Given the description of an element on the screen output the (x, y) to click on. 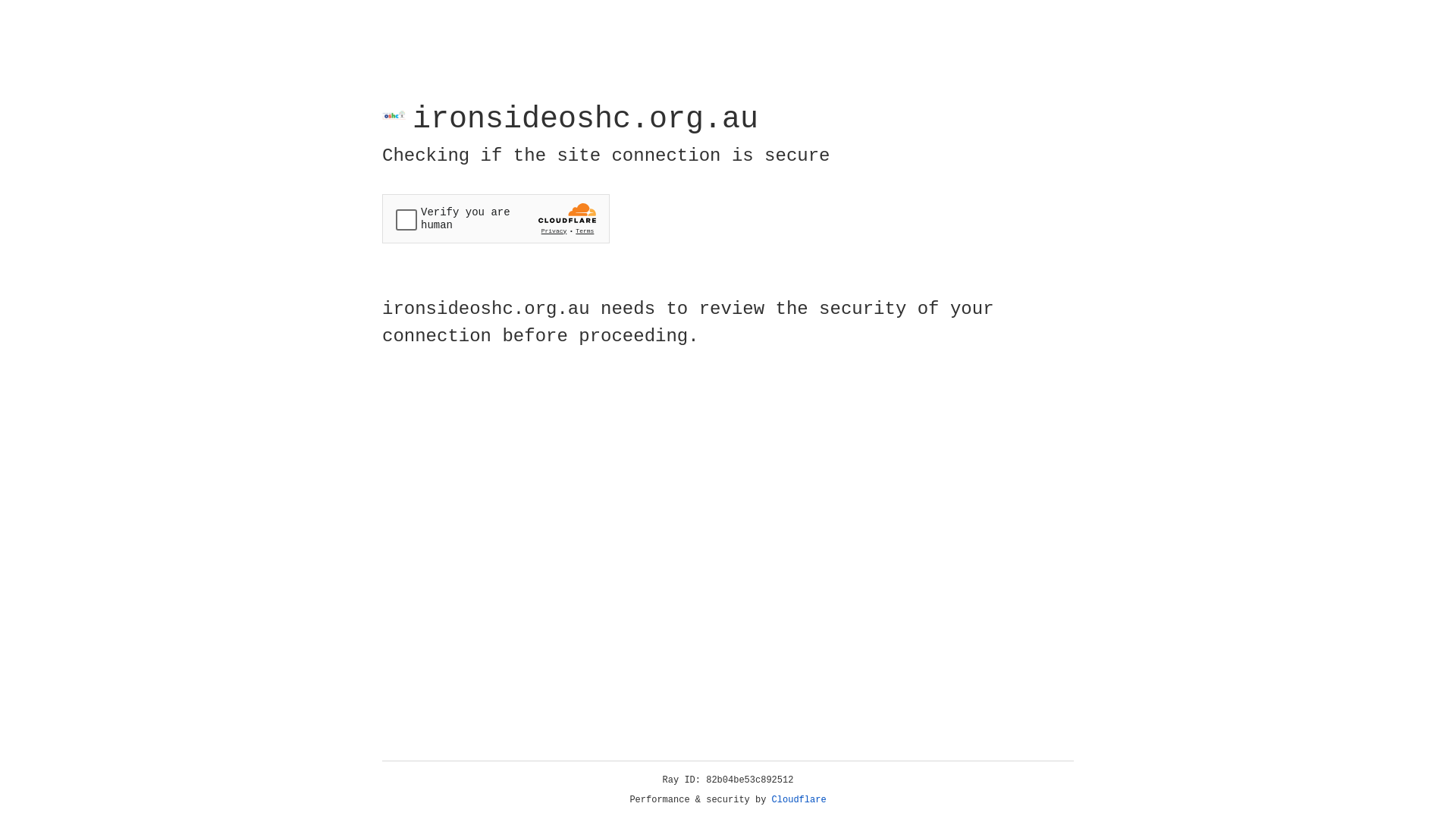
Widget containing a Cloudflare security challenge Element type: hover (495, 218)
Cloudflare Element type: text (798, 799)
